Given the description of an element on the screen output the (x, y) to click on. 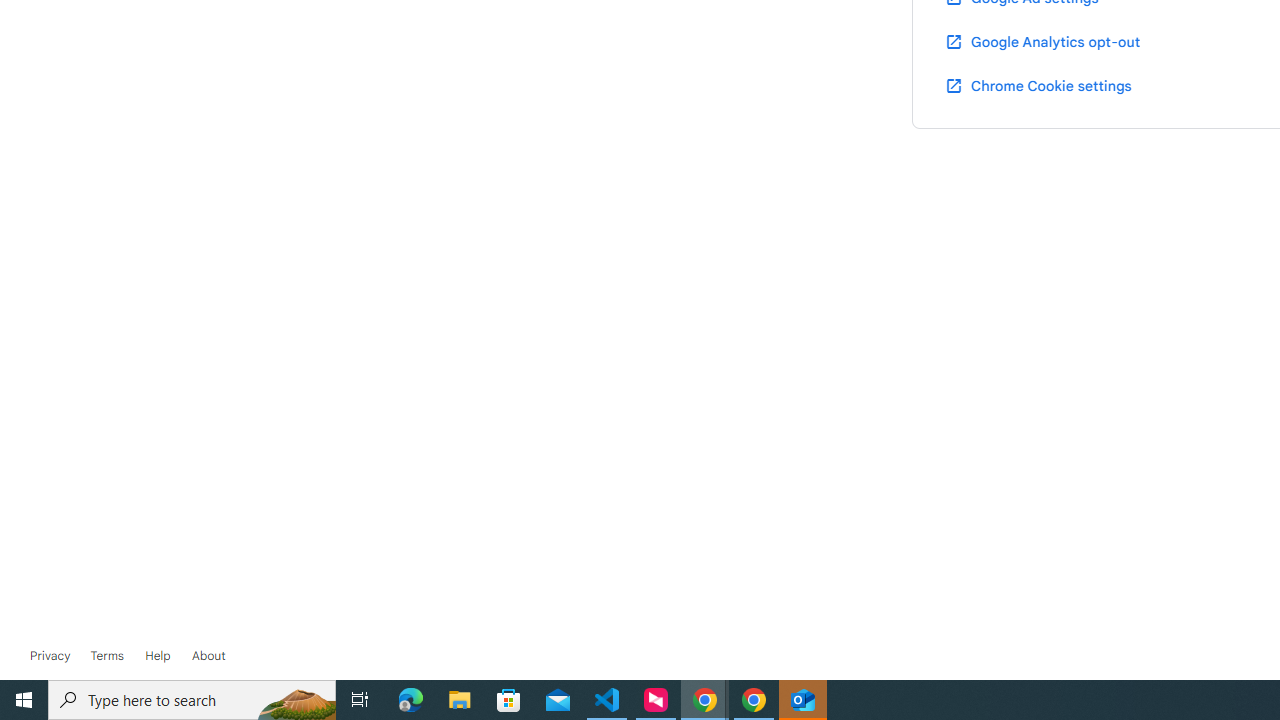
Chrome Cookie settings (1037, 85)
Learn more about Google Account (208, 655)
Google Analytics opt-out (1041, 41)
